Given the description of an element on the screen output the (x, y) to click on. 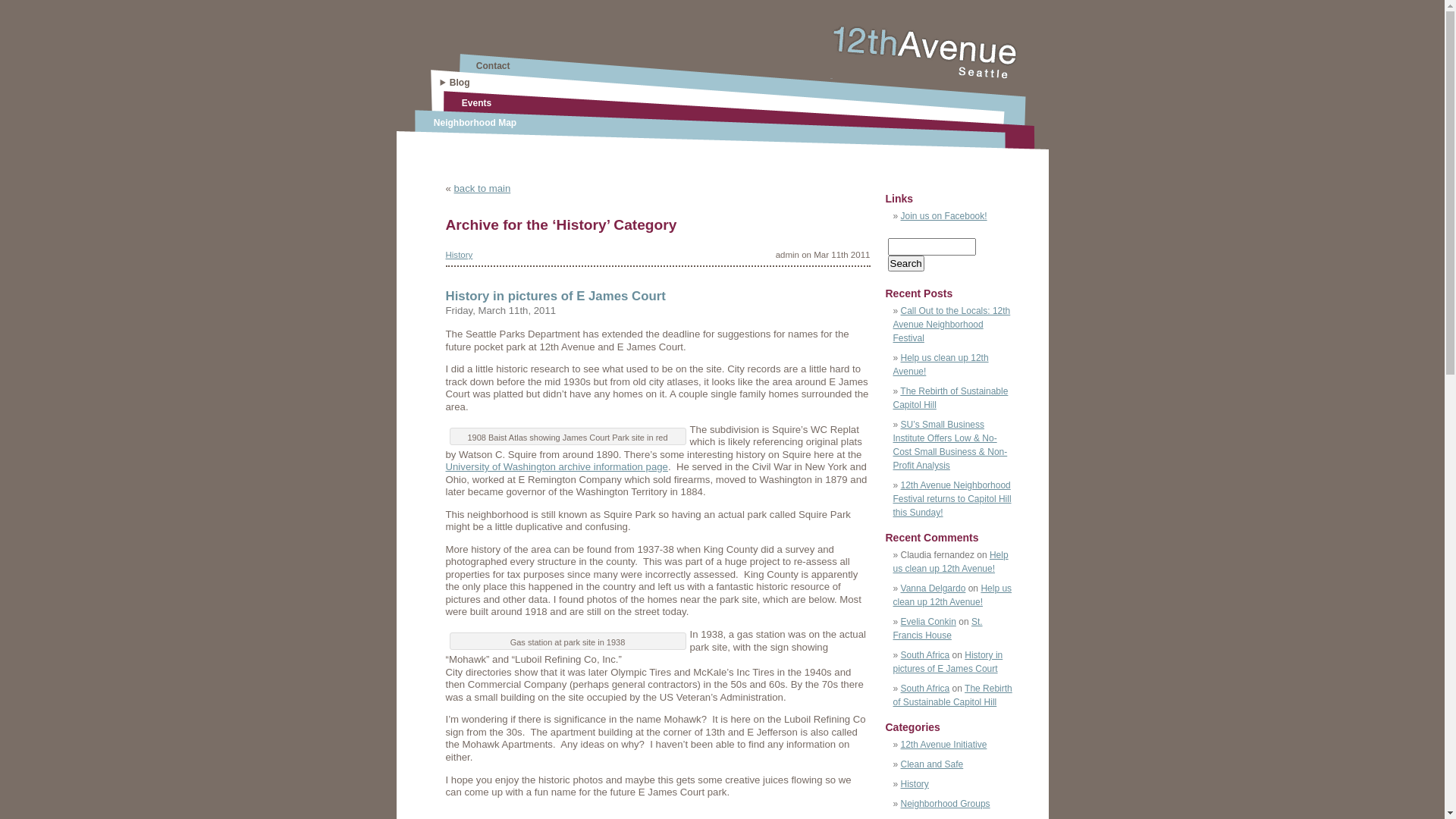
Blog Element type: text (459, 82)
Contact Element type: text (493, 65)
Clean and Safe Element type: text (931, 764)
Help us clean up 12th Avenue! Element type: text (950, 561)
The Rebirth of Sustainable Capitol Hill Element type: text (950, 397)
Call Out to the Locals: 12th Avenue Neighborhood Festival Element type: text (951, 324)
back to main Element type: text (481, 188)
St. Francis House Element type: text (937, 628)
Evelia Conkin Element type: text (928, 621)
Search Element type: text (905, 263)
Vanna Delgardo Element type: text (933, 588)
12th Avenue Home Element type: hover (923, 74)
History Element type: text (459, 254)
The Rebirth of Sustainable Capitol Hill Element type: text (952, 695)
History in pictures of E James Court Element type: text (555, 295)
12th Avenue Initiative Element type: text (943, 744)
History in pictures of E James Court Element type: text (948, 661)
South Africa Element type: text (925, 654)
Help us clean up 12th Avenue! Element type: text (940, 364)
South Africa Element type: text (925, 688)
History Element type: text (914, 783)
Help us clean up 12th Avenue! Element type: text (952, 595)
University of Washington archive information page Element type: text (556, 466)
Neighborhood Groups Element type: text (945, 803)
Join us on Facebook! Element type: text (943, 215)
Events Element type: text (476, 102)
